Given the description of an element on the screen output the (x, y) to click on. 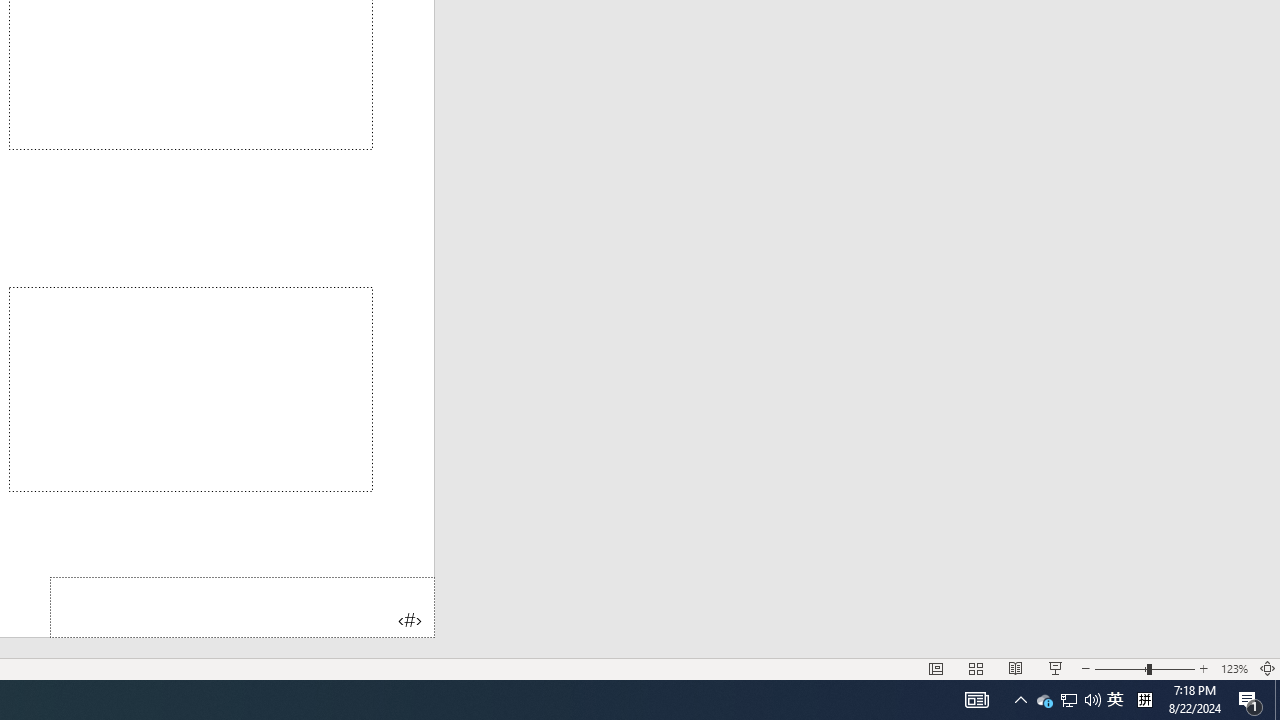
Zoom 123% (1234, 668)
Page Number (242, 606)
